Given the description of an element on the screen output the (x, y) to click on. 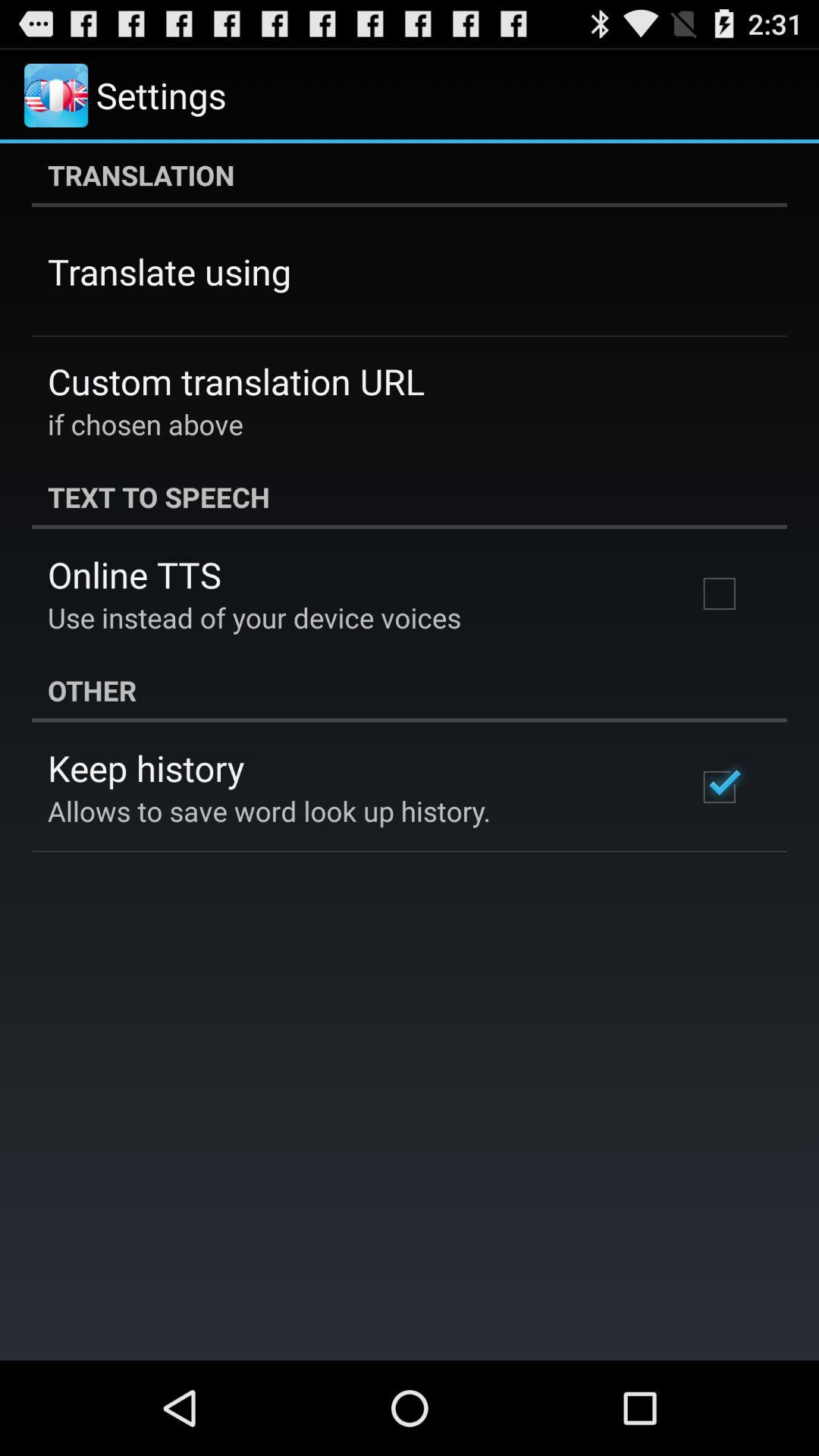
jump until text to speech app (409, 496)
